Given the description of an element on the screen output the (x, y) to click on. 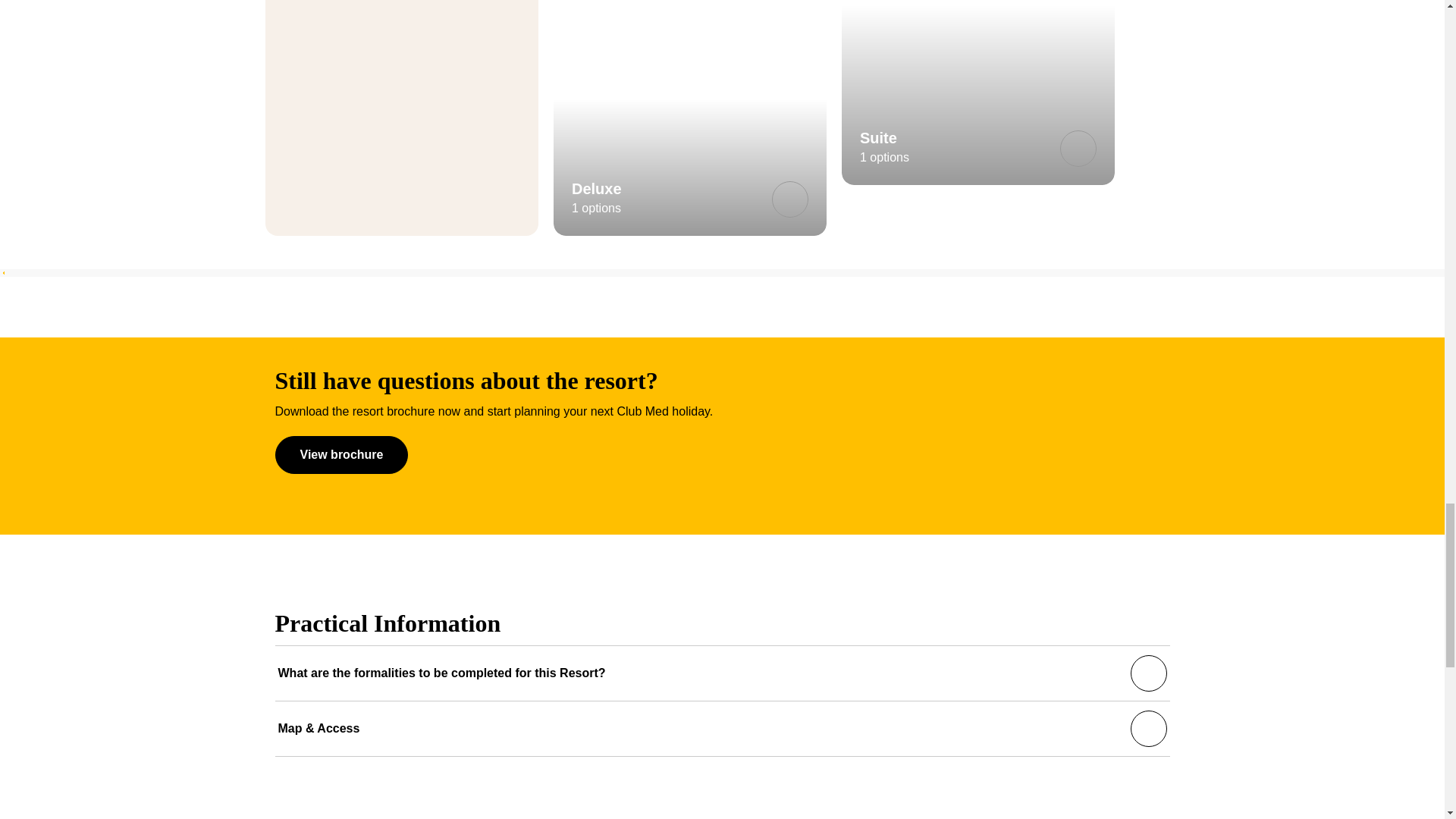
Suite (1077, 148)
Deluxe (789, 198)
